Given the description of an element on the screen output the (x, y) to click on. 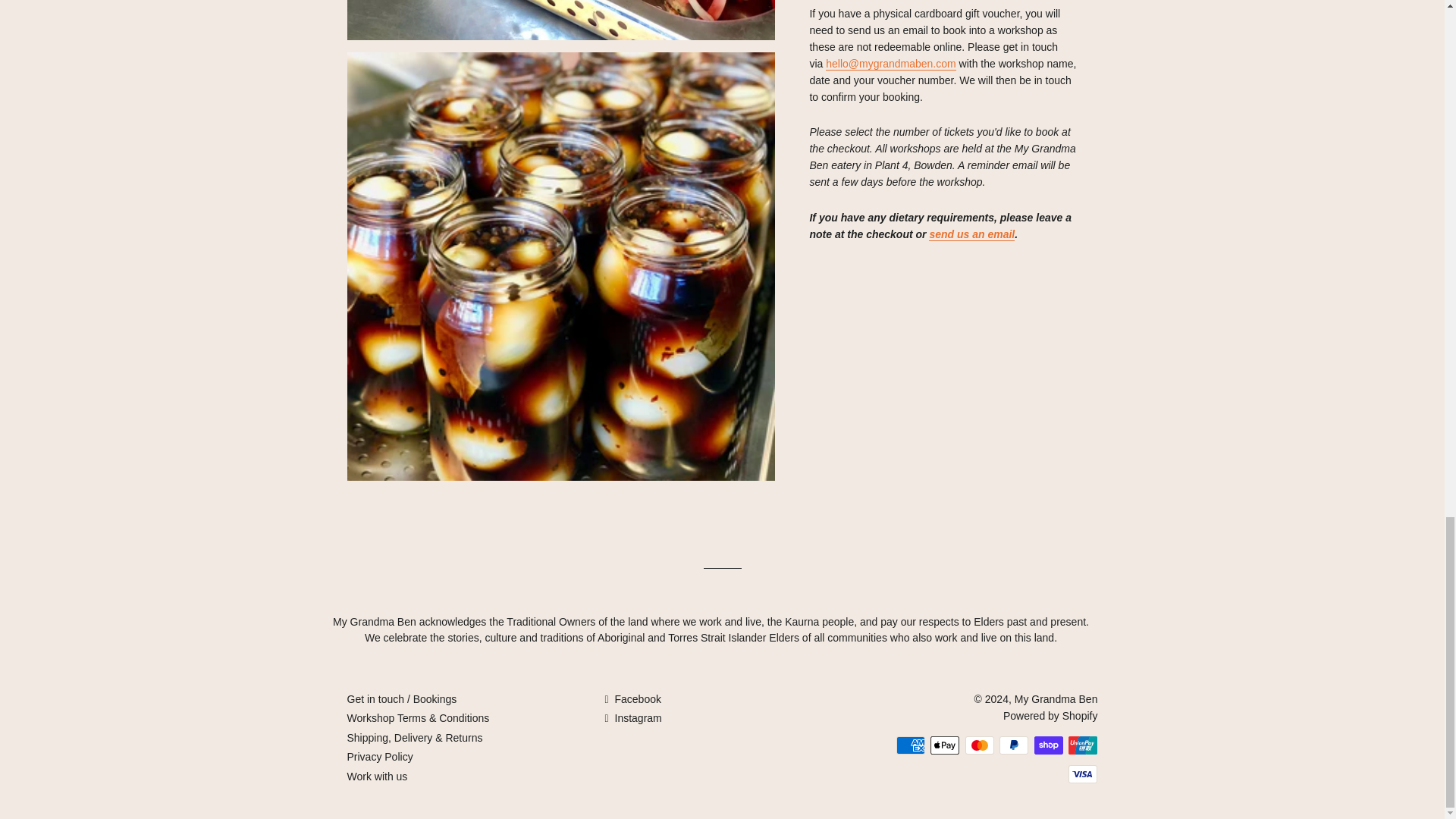
American Express (910, 745)
Shop Pay (1047, 745)
Powered by Shopify (1050, 715)
PayPal (1012, 745)
send us an email (971, 234)
My Grandma Ben  on Facebook (632, 698)
Instagram (632, 717)
Union Pay (1082, 745)
Mastercard (979, 745)
Privacy Policy (380, 756)
Apple Pay (944, 745)
My Grandma Ben (1055, 698)
Work with us (377, 776)
My Grandma Ben  on Instagram (632, 717)
Visa (1082, 773)
